Given the description of an element on the screen output the (x, y) to click on. 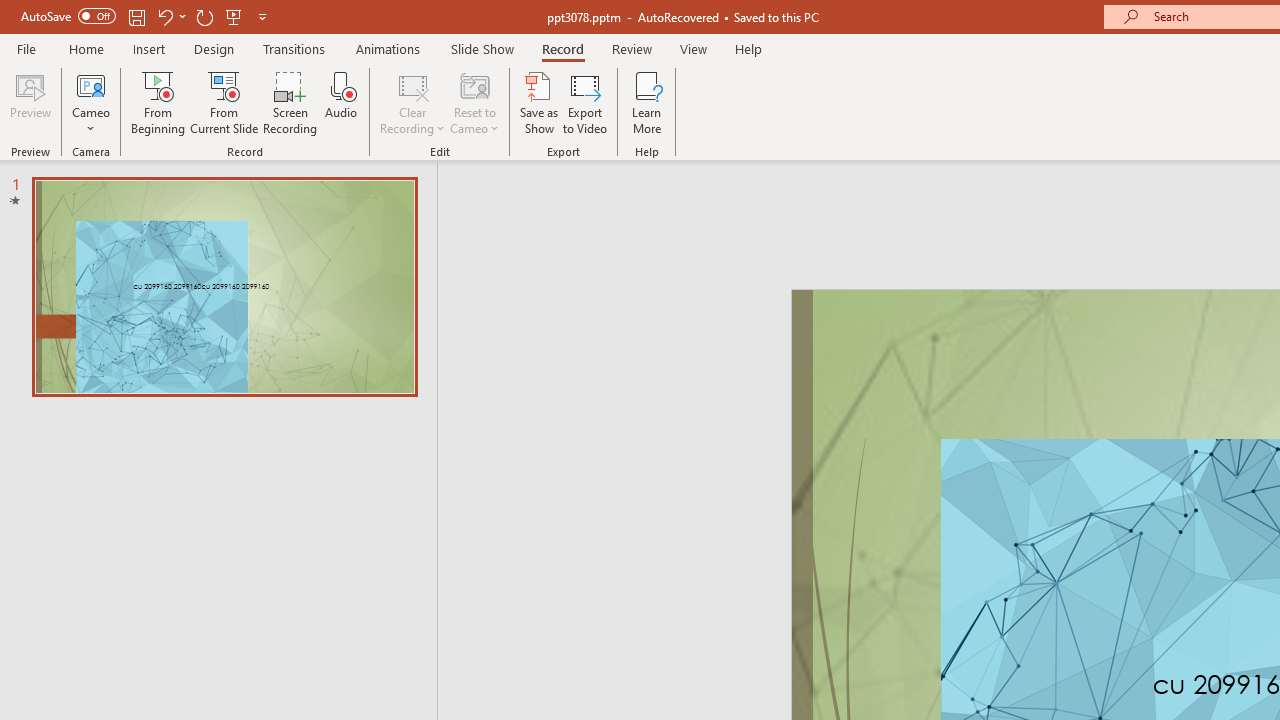
Home (86, 48)
More Options (91, 121)
Help (748, 48)
Insert (149, 48)
